Given the description of an element on the screen output the (x, y) to click on. 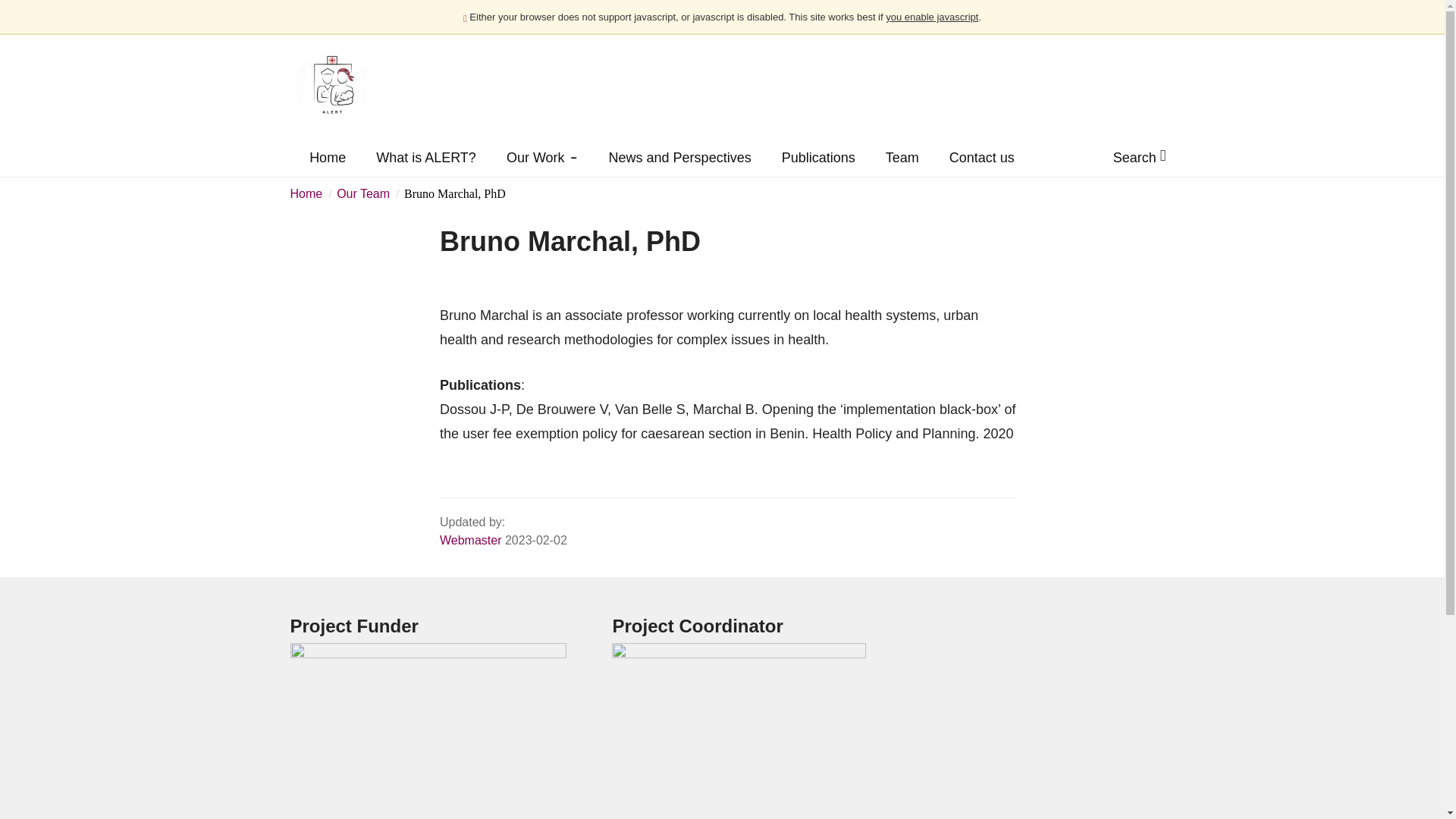
Contact us (981, 153)
Home (305, 193)
Team (901, 153)
Our Work (542, 153)
Home (327, 153)
Webmaster (470, 540)
you enable javascript (931, 16)
Our Team (363, 193)
Go to the start page (343, 84)
